Given the description of an element on the screen output the (x, y) to click on. 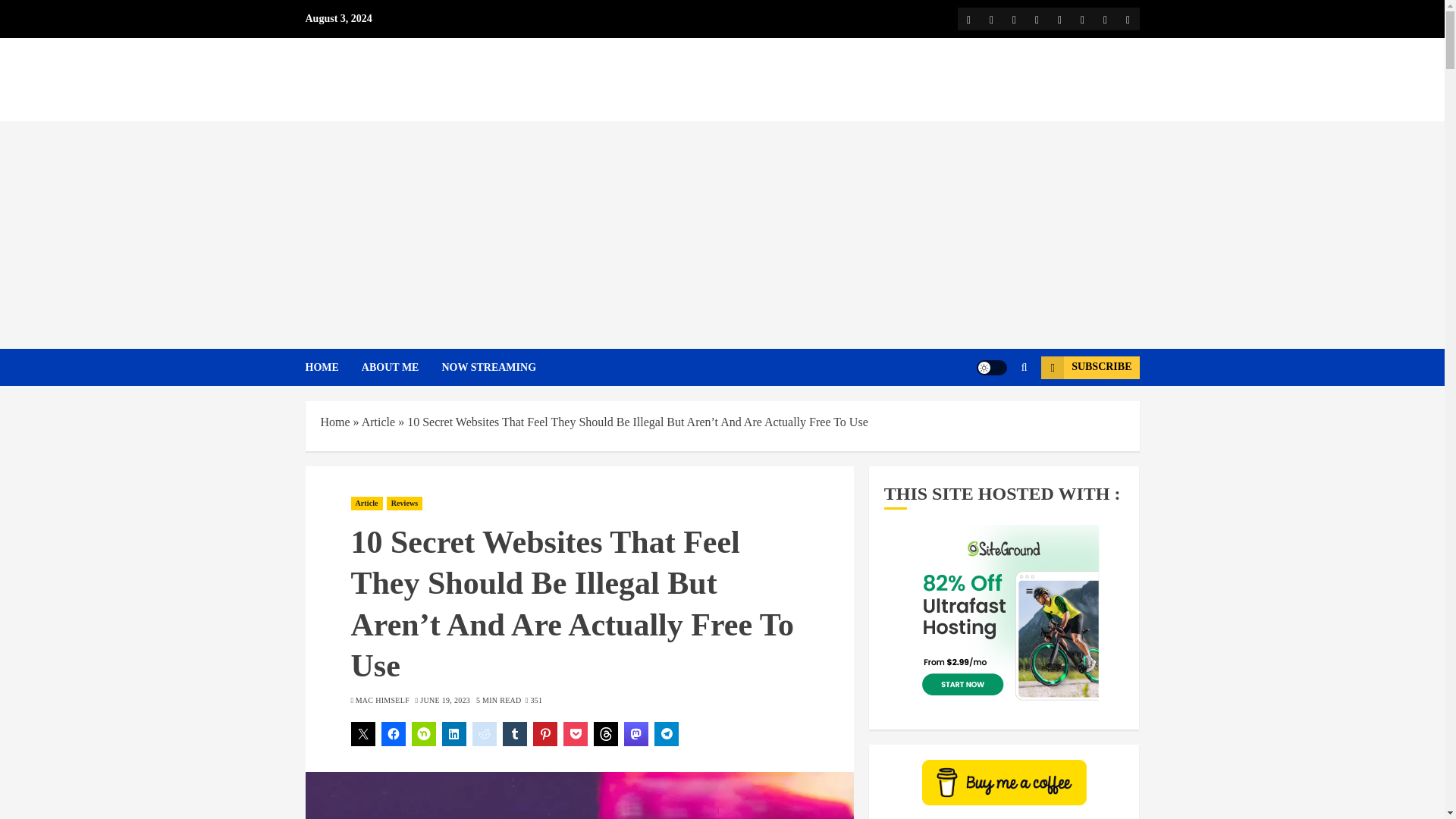
Facebook (967, 18)
Click to share on Tumblr (513, 733)
SUBSCRIBE (1089, 367)
Click to share on LinkedIn (453, 733)
Tumblr (1081, 18)
Instagram (1036, 18)
X (991, 18)
Click to share on Pinterest (544, 733)
NOW STREAMING (488, 366)
Article (377, 421)
Click to share on Reddit (483, 733)
HOME (332, 366)
ABOUT ME (401, 366)
Click to share on Telegram (665, 733)
MAC HIMSELF (382, 700)
